Given the description of an element on the screen output the (x, y) to click on. 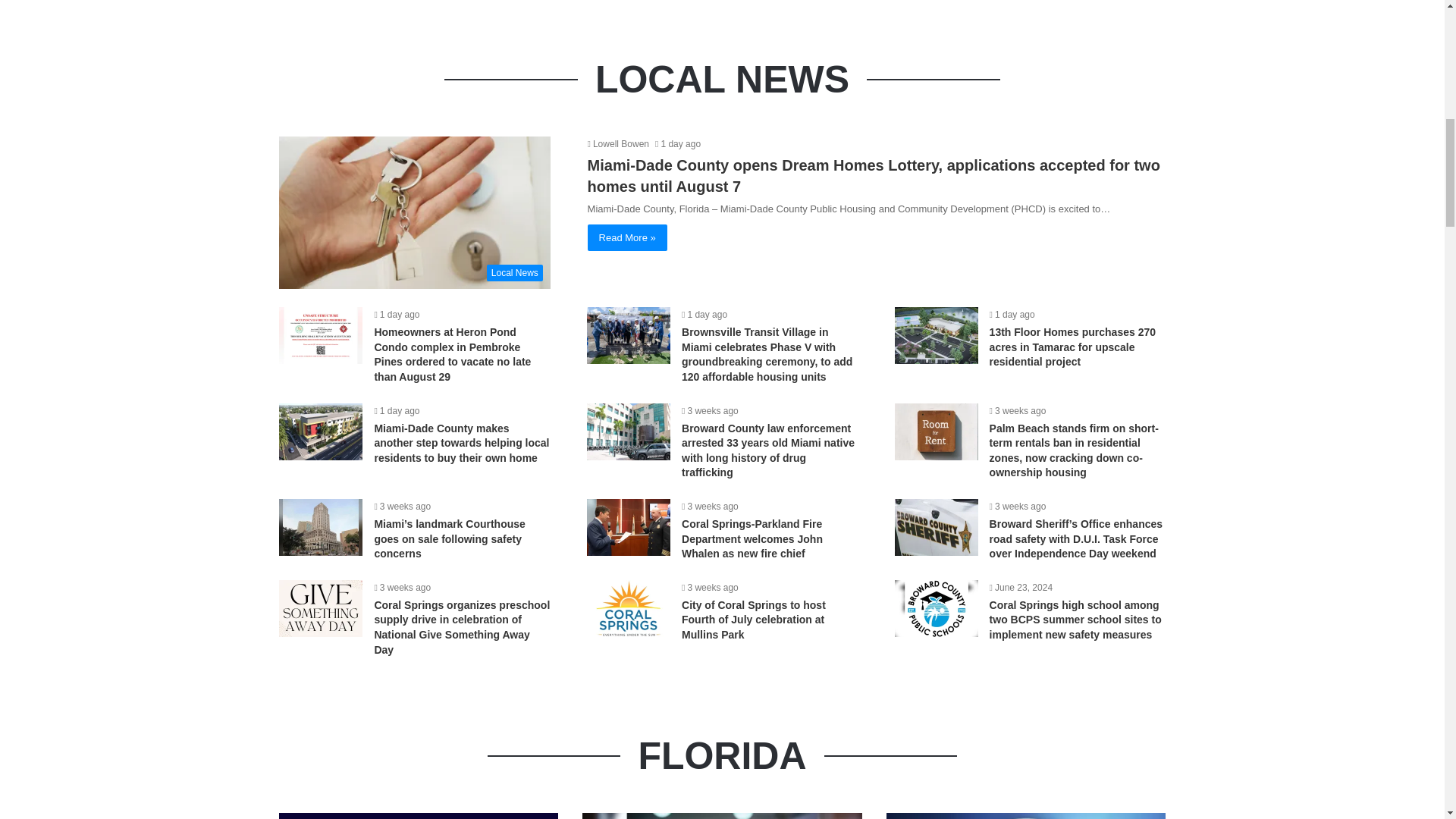
Lowell Bowen (618, 143)
Lowell Bowen (618, 143)
Local News (414, 212)
